Given the description of an element on the screen output the (x, y) to click on. 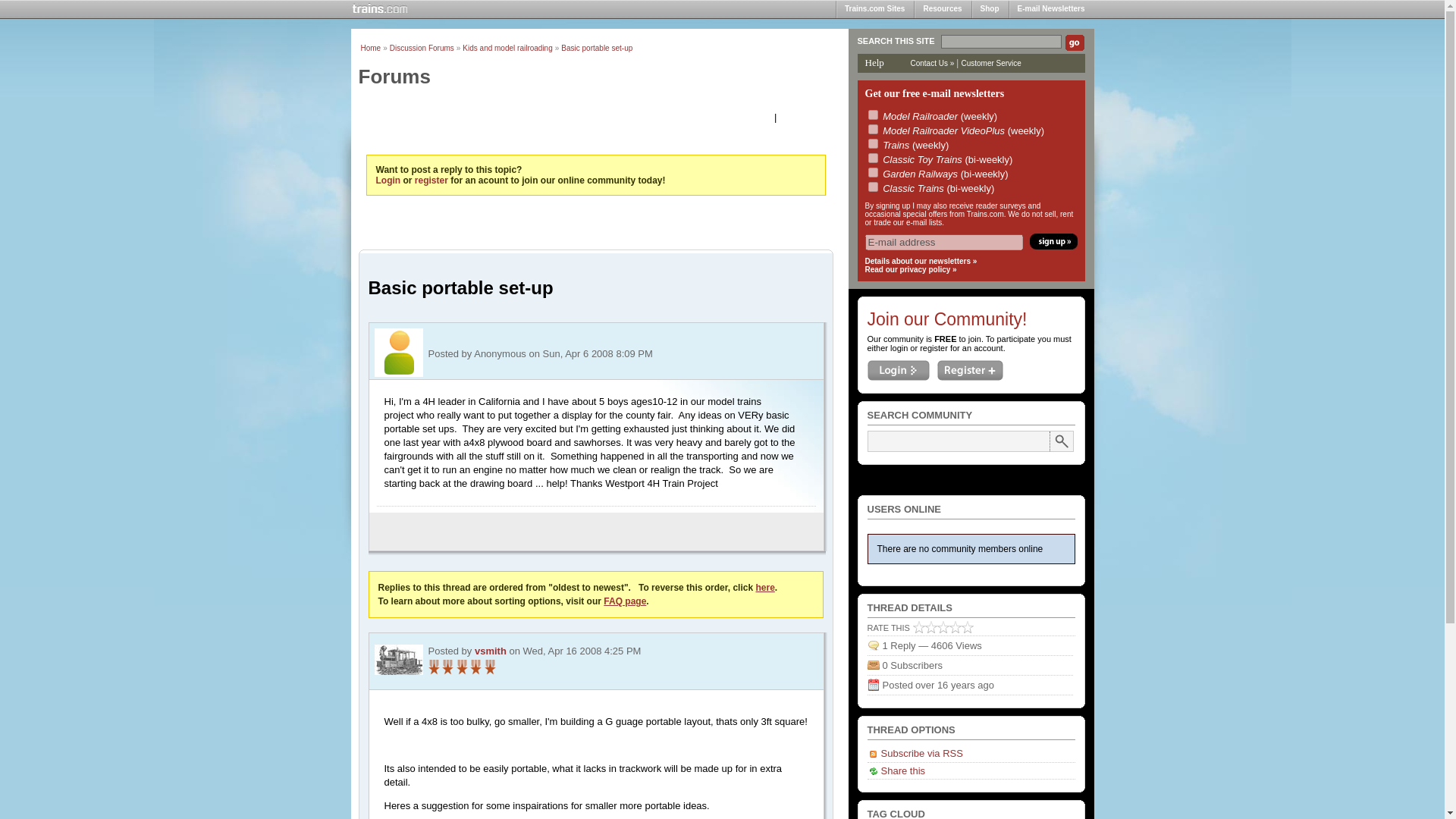
on (872, 157)
E-mail address (943, 242)
E-mail Newsletters (1051, 9)
on (872, 186)
on (872, 143)
Trains.com Sites (874, 9)
on (872, 172)
Go to Trains.com (378, 9)
on (872, 114)
Home (371, 48)
